Given the description of an element on the screen output the (x, y) to click on. 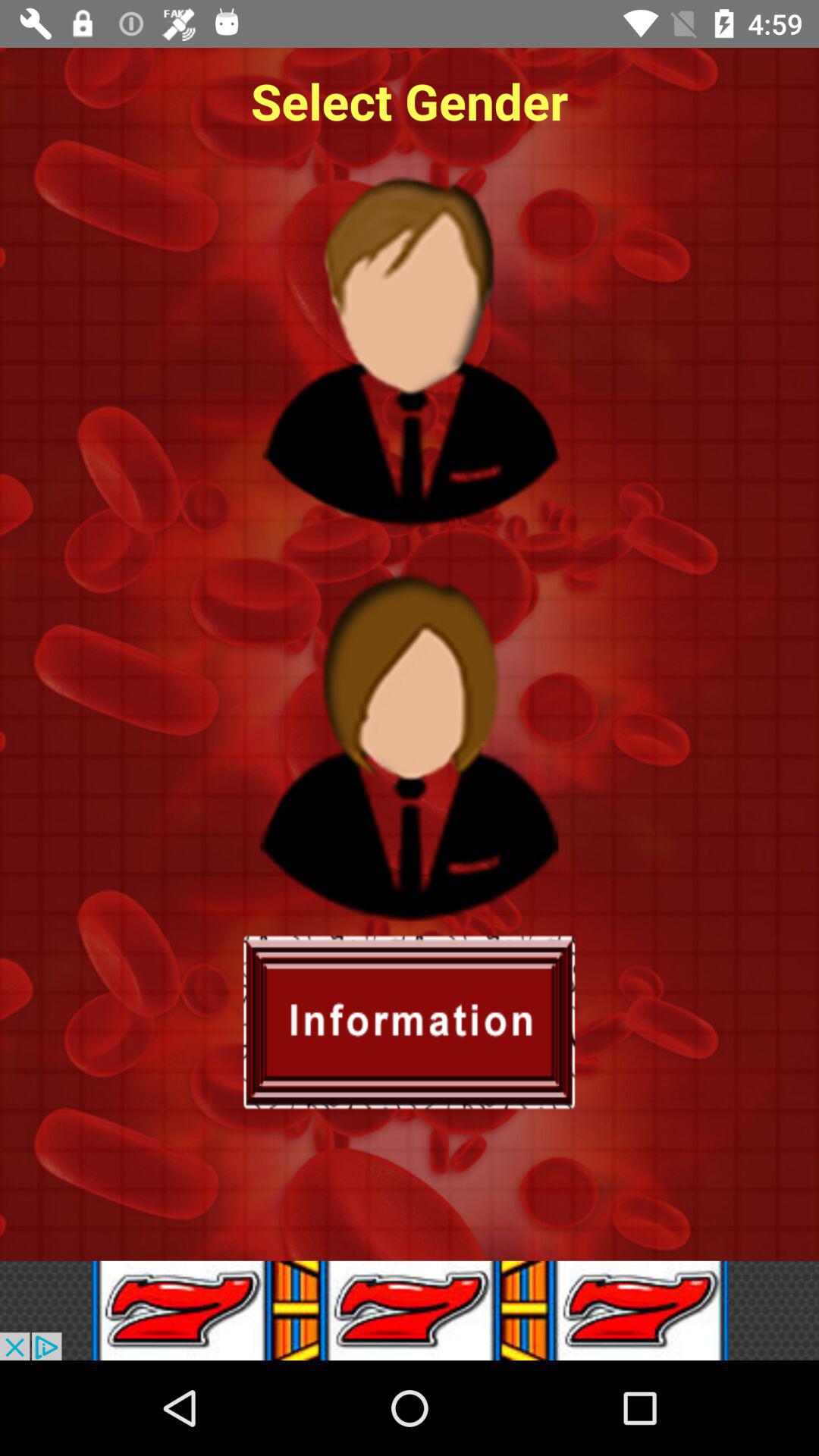
go to a suspicious lottery website (409, 1310)
